Given the description of an element on the screen output the (x, y) to click on. 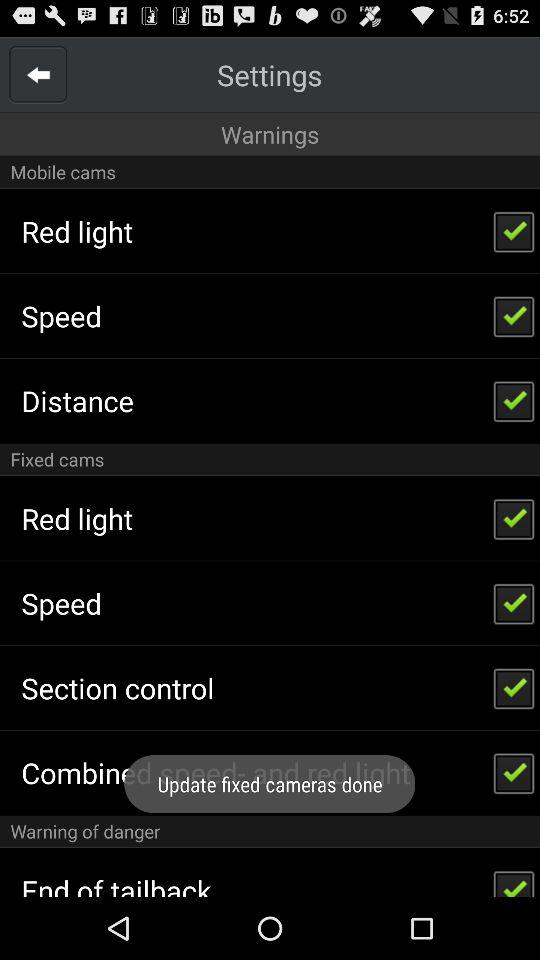
select the fourth check box button in the page (513, 518)
select the fourth check box button in the page (513, 518)
select the seventh check box button in the page (513, 772)
select the check box which is beside section control (513, 688)
click on the last check box at the right bottom of the page (513, 877)
click on check box right to speed (513, 316)
click on the button which is next to the speed (513, 603)
select the option beside section control (513, 688)
